Given the description of an element on the screen output the (x, y) to click on. 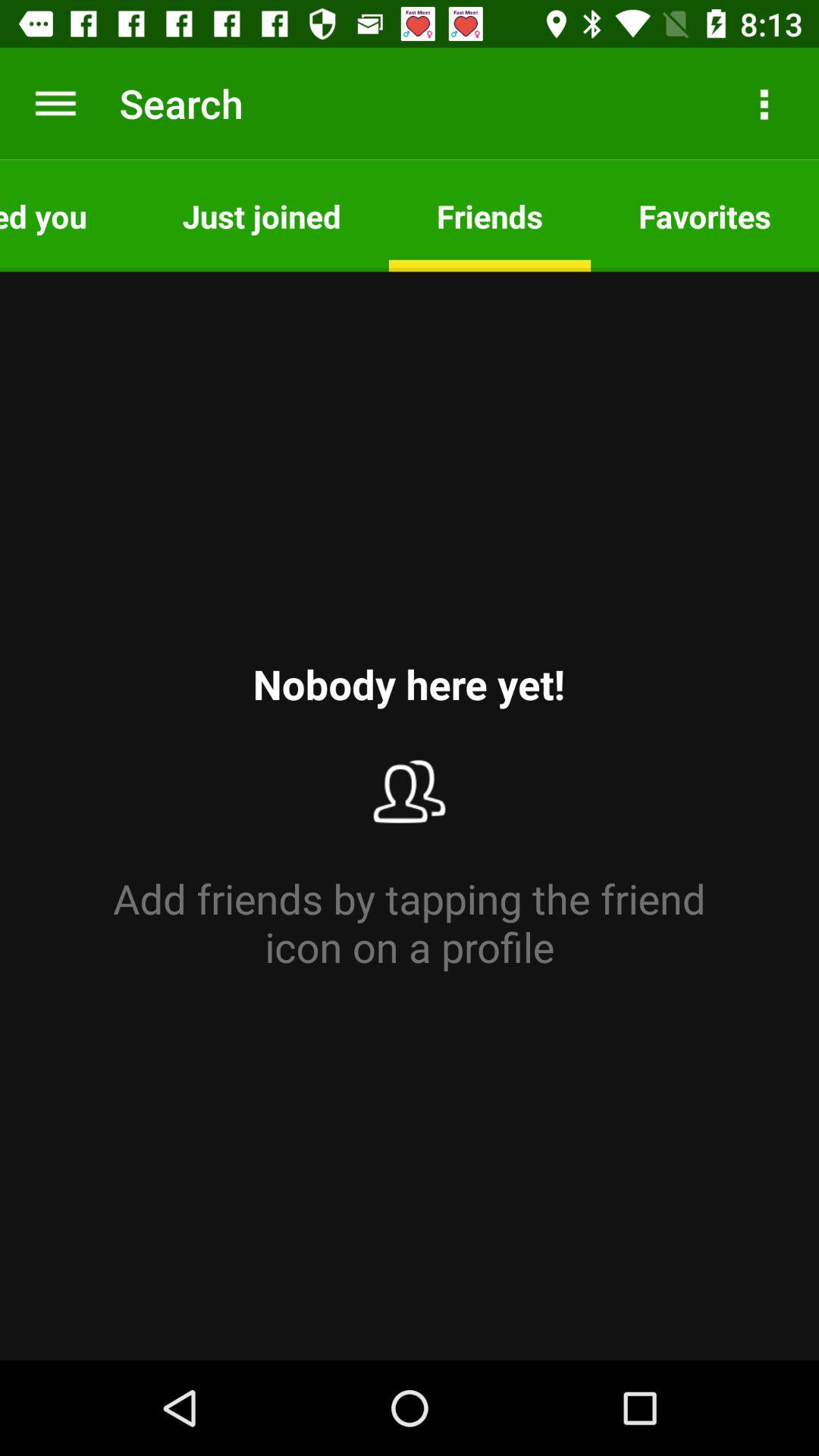
select item next to the liked you icon (261, 215)
